Given the description of an element on the screen output the (x, y) to click on. 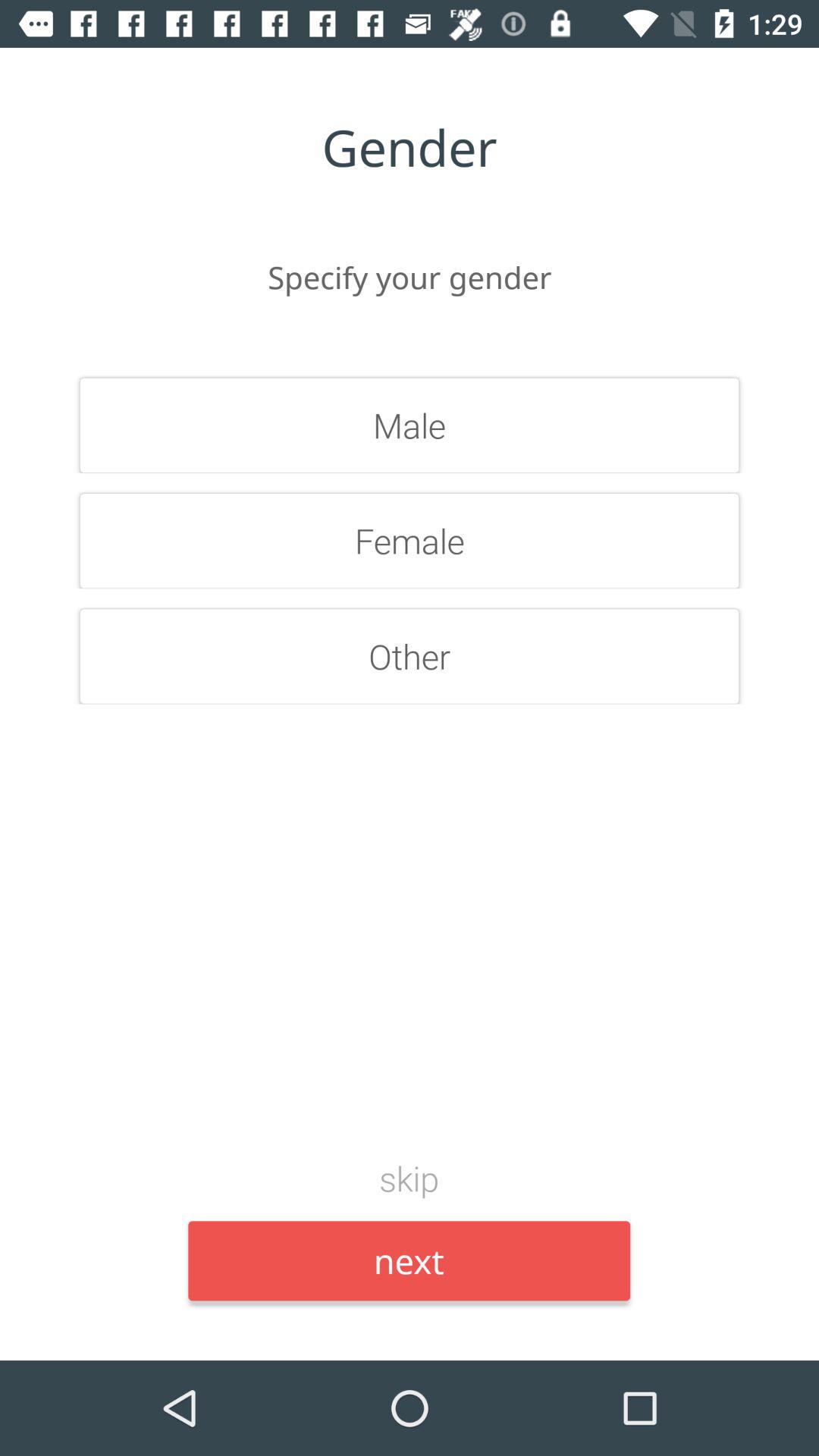
jump to male icon (409, 425)
